Given the description of an element on the screen output the (x, y) to click on. 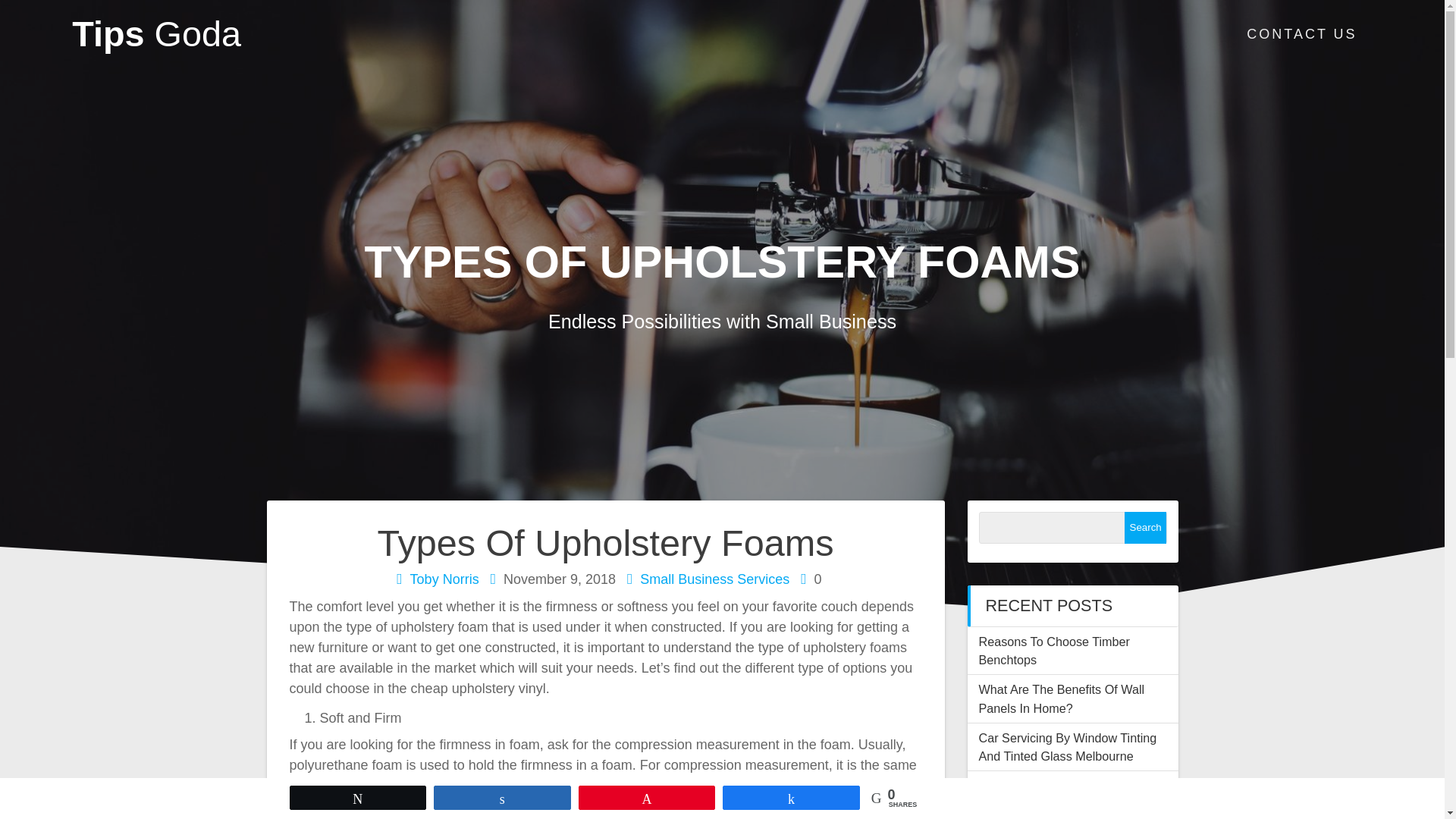
Tips Goda (156, 34)
Search (1145, 527)
Posts by Toby Norris (444, 579)
Car Servicing By Window Tinting And Tinted Glass Melbourne (1067, 746)
Toby Norris (444, 579)
What Are The Benefits Of Wall Panels In Home? (1061, 698)
Small Business Services (714, 579)
Reasons To Choose Timber Benchtops (1053, 650)
CONTACT US (1301, 34)
Search (1145, 527)
Why Choose Melbourne Metro Refrigeration? (1061, 794)
